Given the description of an element on the screen output the (x, y) to click on. 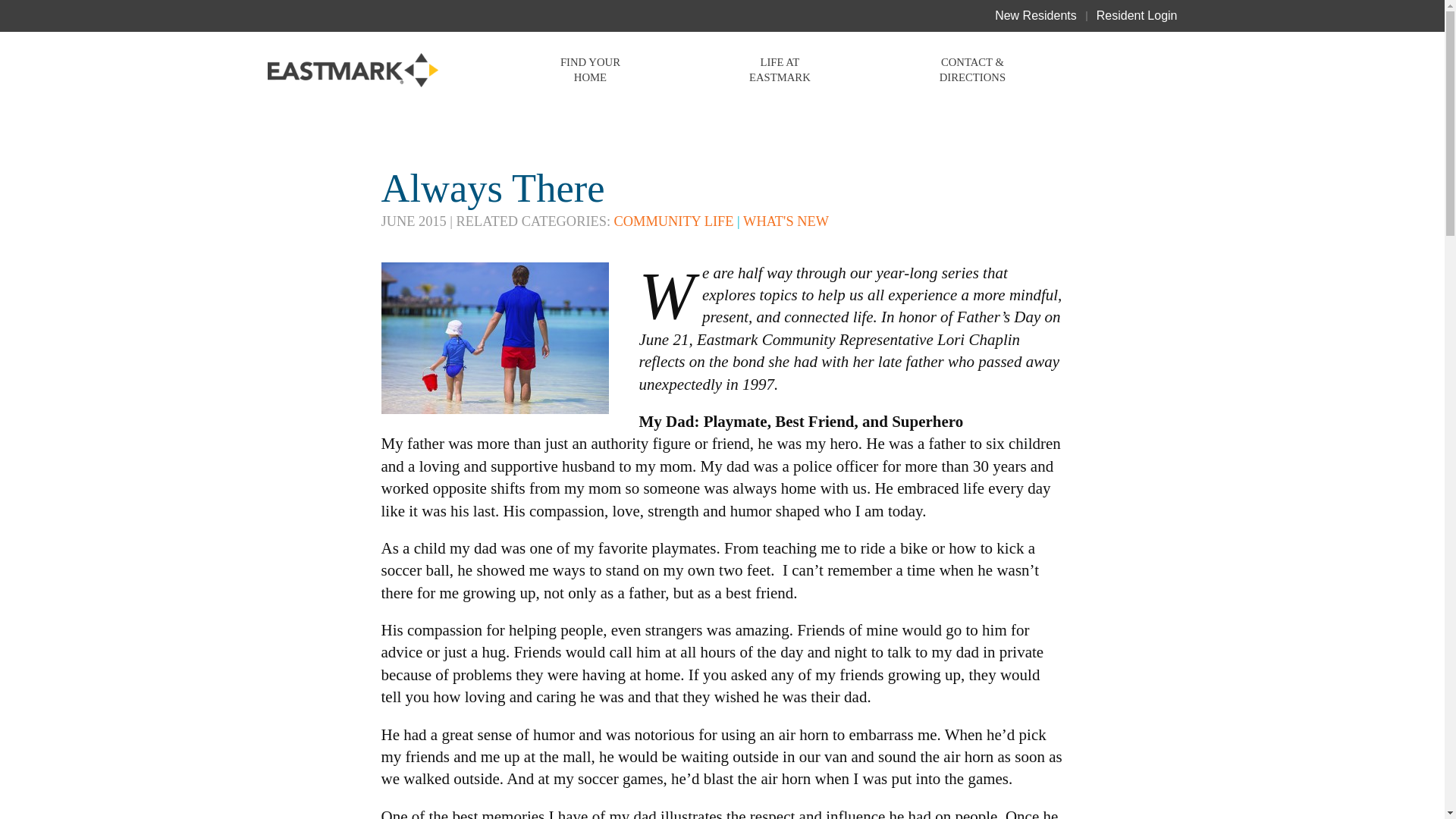
Resident Login (1136, 15)
WHAT'S NEW (785, 221)
New Residents (1035, 15)
COMMUNITY LIFE (673, 221)
